Given the description of an element on the screen output the (x, y) to click on. 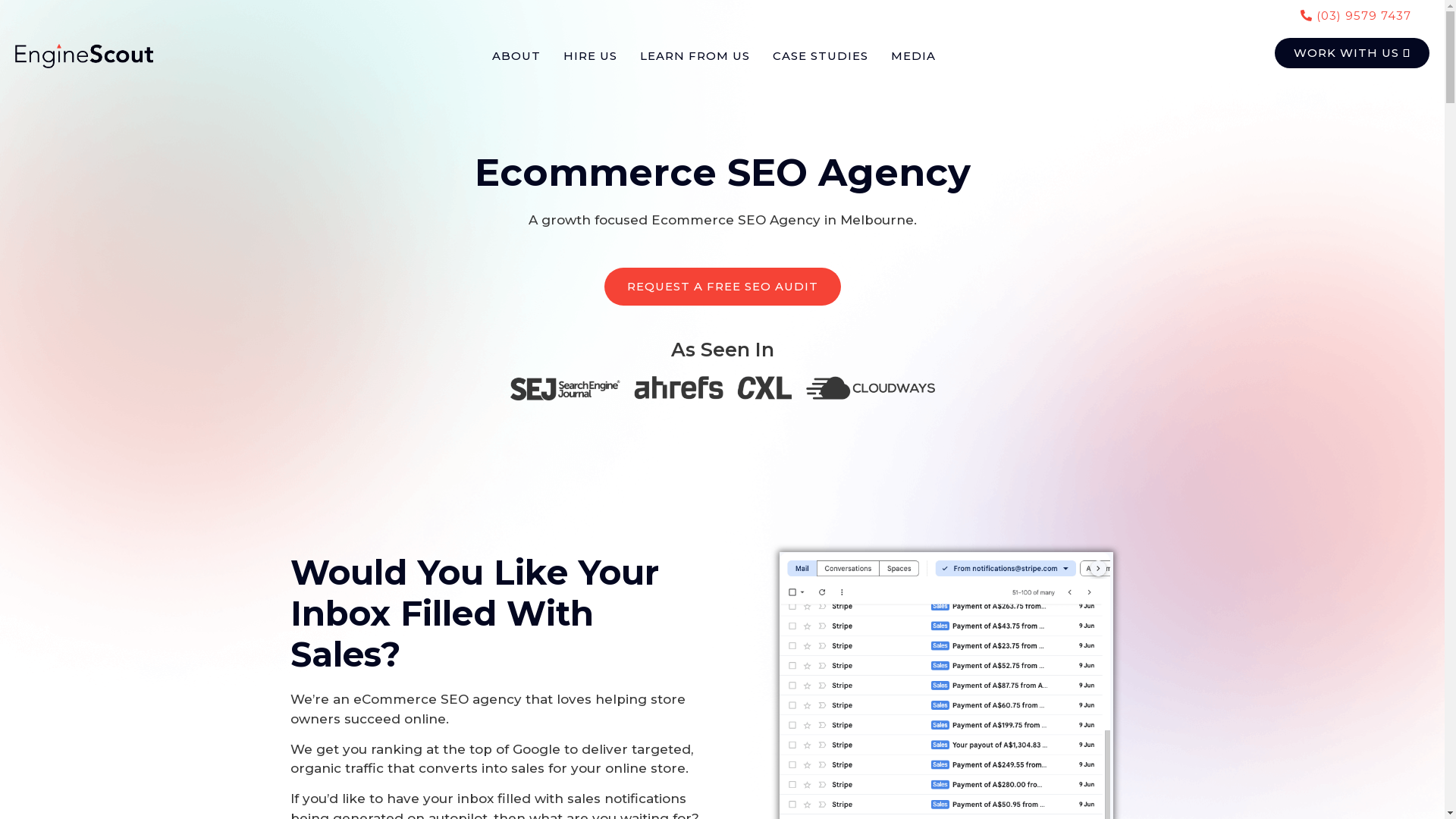
CASE STUDIES Element type: text (820, 55)
HIRE US Element type: text (590, 55)
REQUEST A FREE SEO AUDIT Element type: text (721, 286)
ABOUT Element type: text (516, 55)
MEDIA Element type: text (913, 55)
LEARN FROM US Element type: text (694, 55)
(03) 9579 7437 Element type: text (1355, 14)
